Given the description of an element on the screen output the (x, y) to click on. 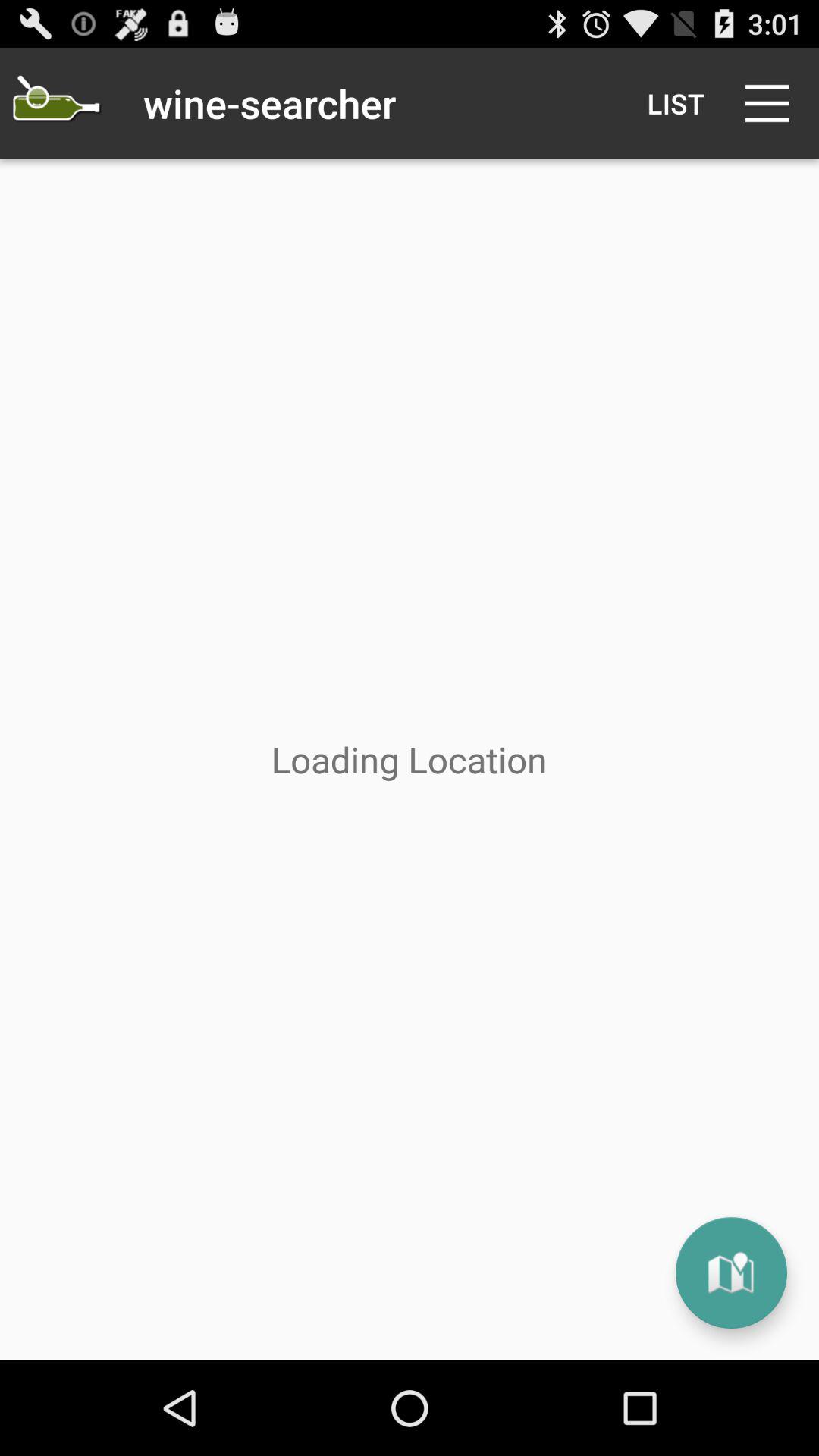
tap the icon next to the wine-searcher item (55, 103)
